Given the description of an element on the screen output the (x, y) to click on. 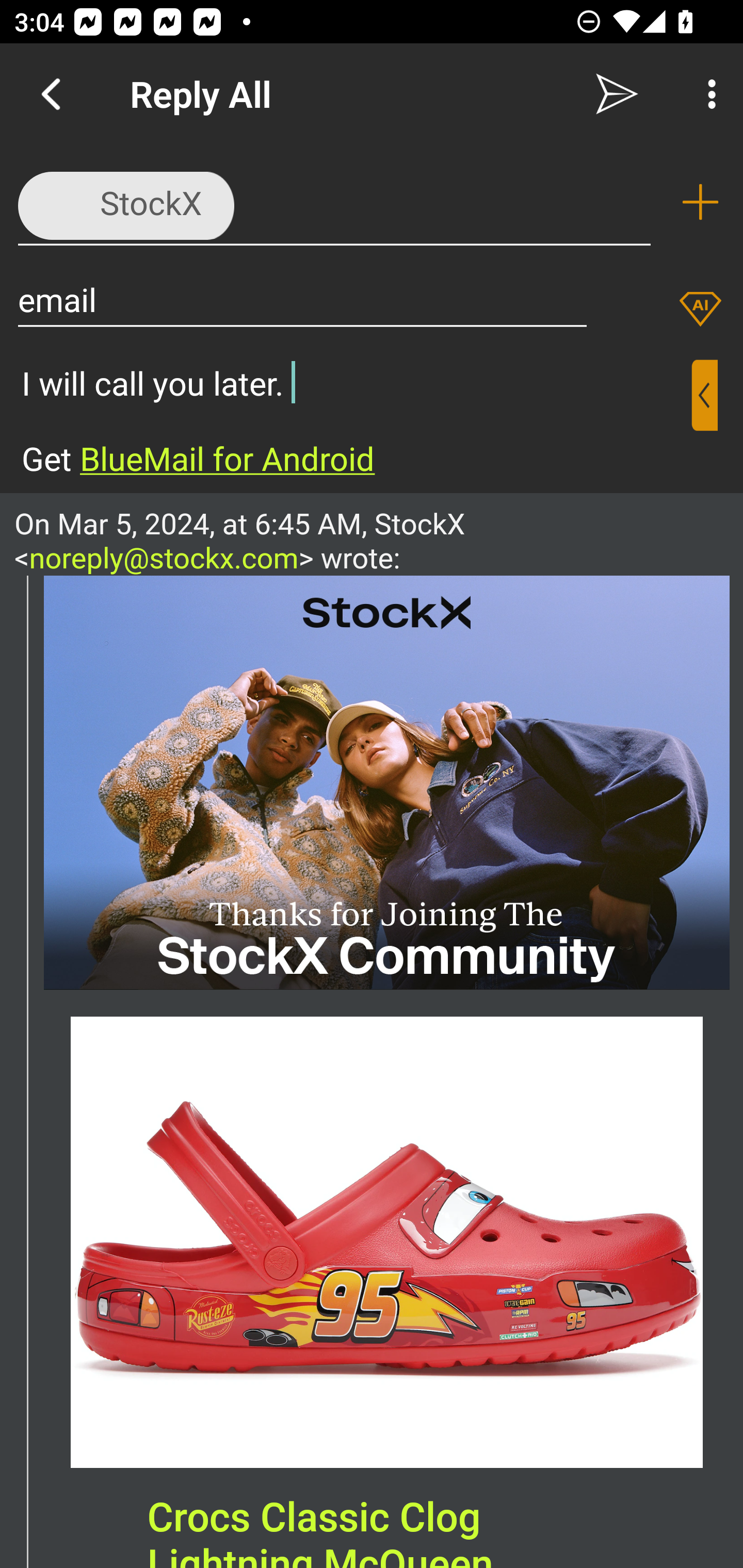
Navigate up (50, 93)
Send (616, 93)
More Options (706, 93)
StockX <noreply@stockx.com>,  (334, 201)
Add recipient (To) (699, 201)
email (302, 299)
noreply@stockx.com (163, 557)
click?upn=u001 (387, 781)
Crocs Classic Clog Lightning McQueen (386, 1241)
Crocs Classic Clog Lightning McQueen (320, 1530)
